Given the description of an element on the screen output the (x, y) to click on. 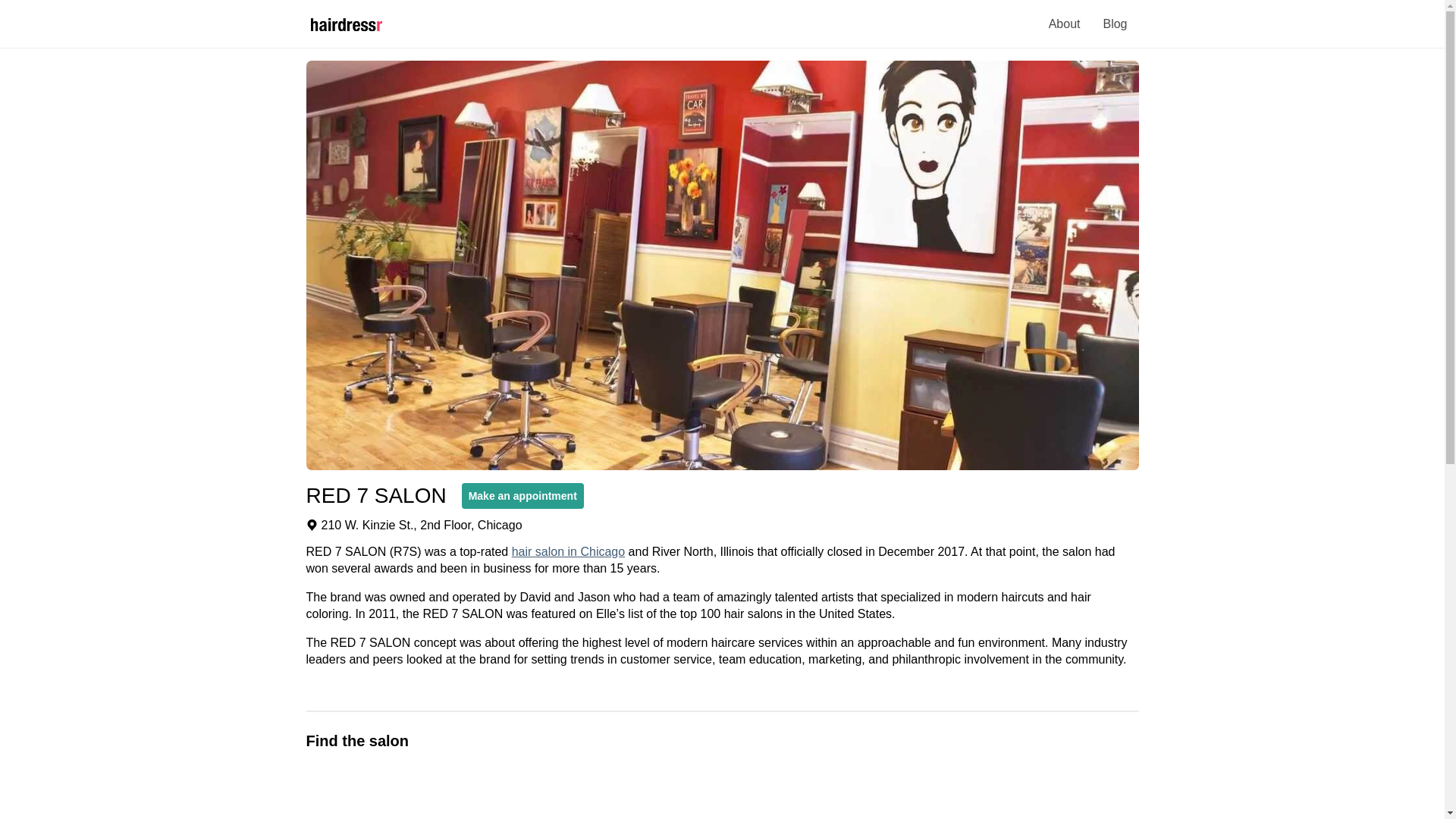
Blog (1114, 24)
Make an appointment (514, 495)
hair salon in Chicago (568, 550)
About (1064, 24)
Make an appointment (522, 495)
